Given the description of an element on the screen output the (x, y) to click on. 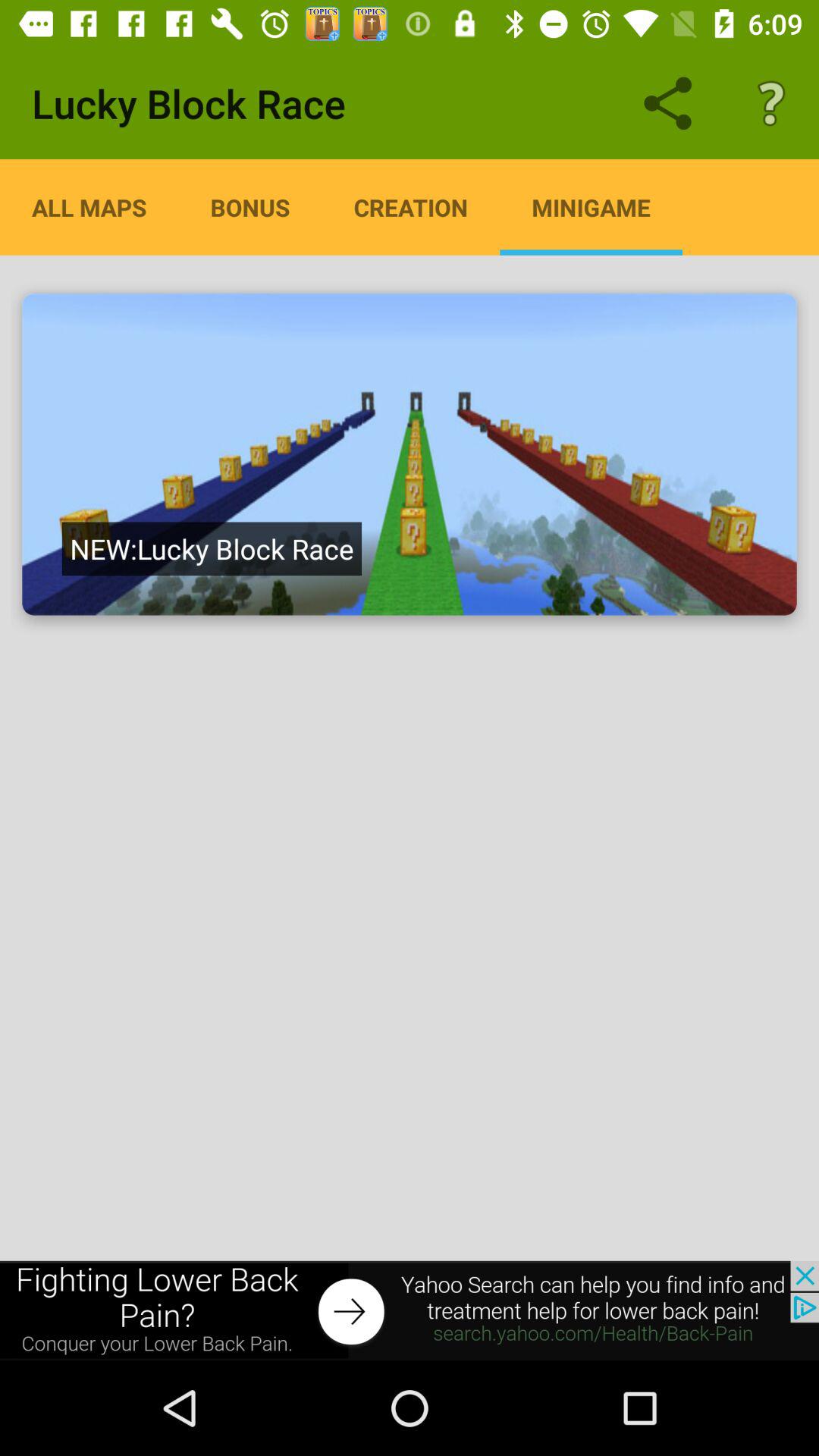
click the question mark icon at top right corner right to share icon (771, 103)
click the button beside all maps (250, 207)
click on newlucky block race image (409, 454)
click on minigame right to creation (590, 207)
select the text just right to bonus (410, 207)
select the text which is in the image (211, 548)
